Given the description of an element on the screen output the (x, y) to click on. 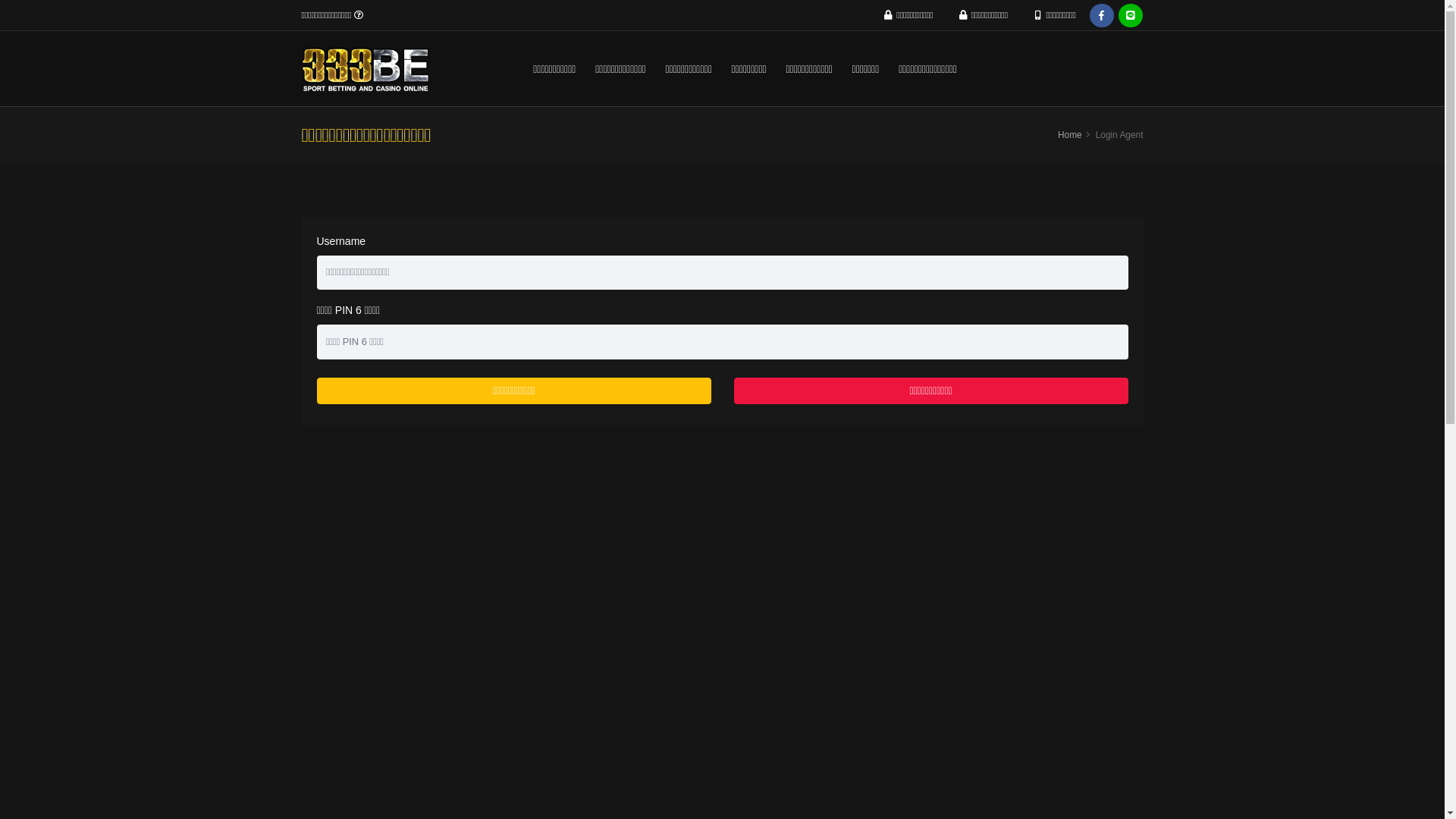
Facebook Element type: hover (1101, 15)
Home Element type: text (1069, 134)
Line Element type: hover (1130, 15)
